Given the description of an element on the screen output the (x, y) to click on. 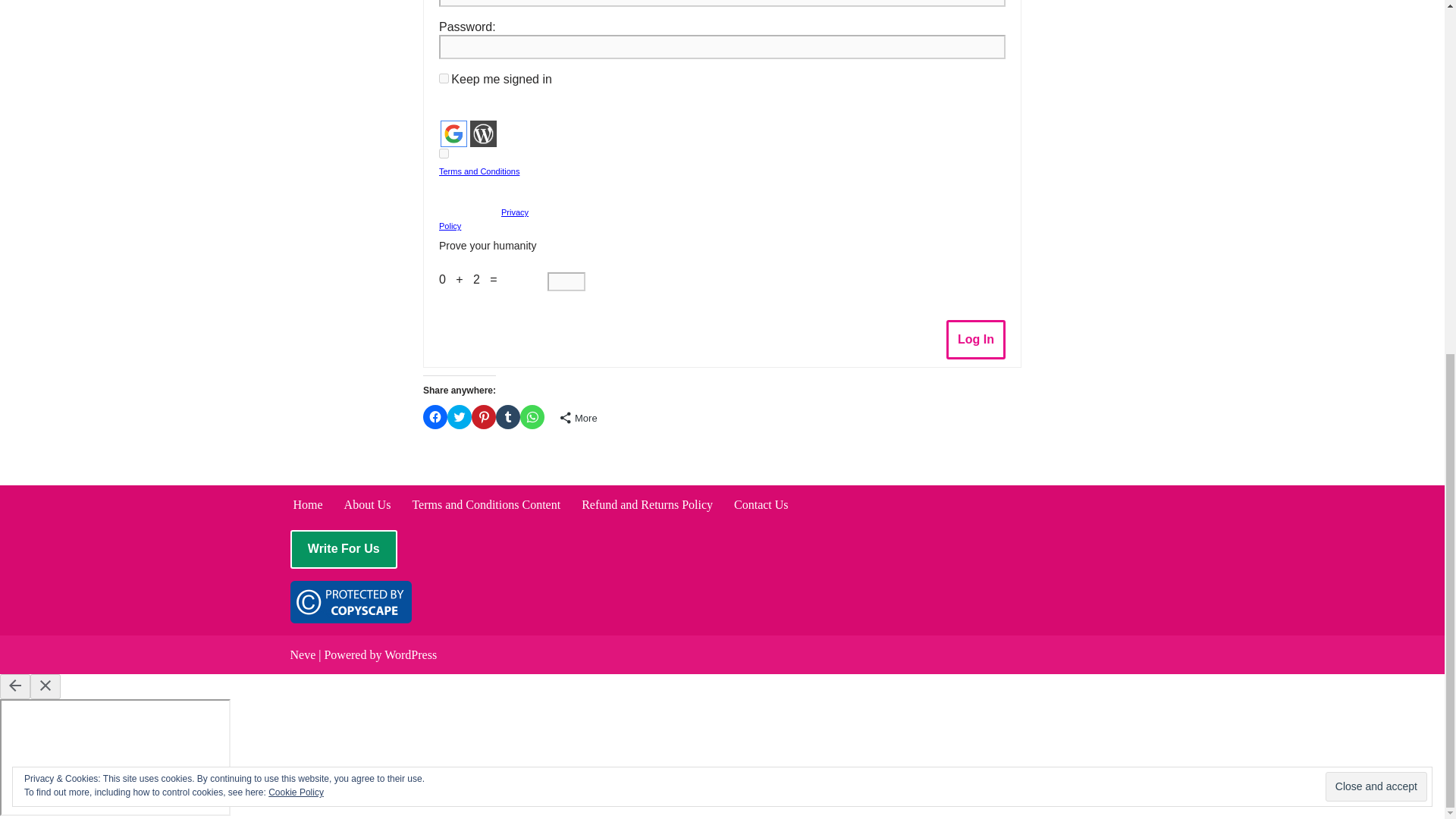
1 (443, 153)
Close and accept (1375, 168)
Click to share on Pinterest (483, 416)
Click to share on Twitter (458, 416)
Click to share on Facebook (434, 416)
Login with Google (454, 133)
Login with Wordpress (483, 133)
forever (443, 78)
Click to share on Tumblr (507, 416)
Click to share on WhatsApp (531, 416)
